Given the description of an element on the screen output the (x, y) to click on. 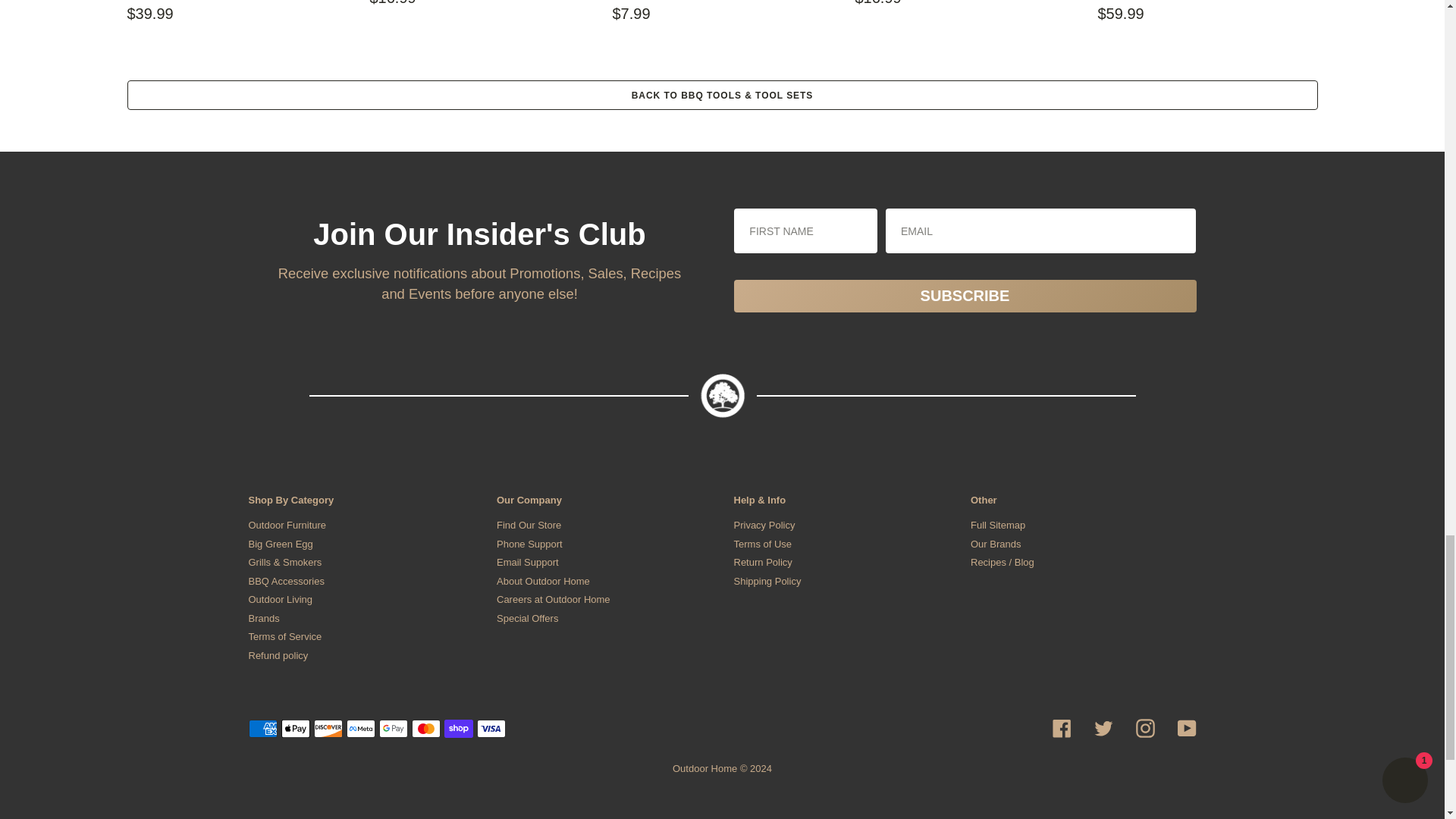
Subscribe (964, 296)
